Given the description of an element on the screen output the (x, y) to click on. 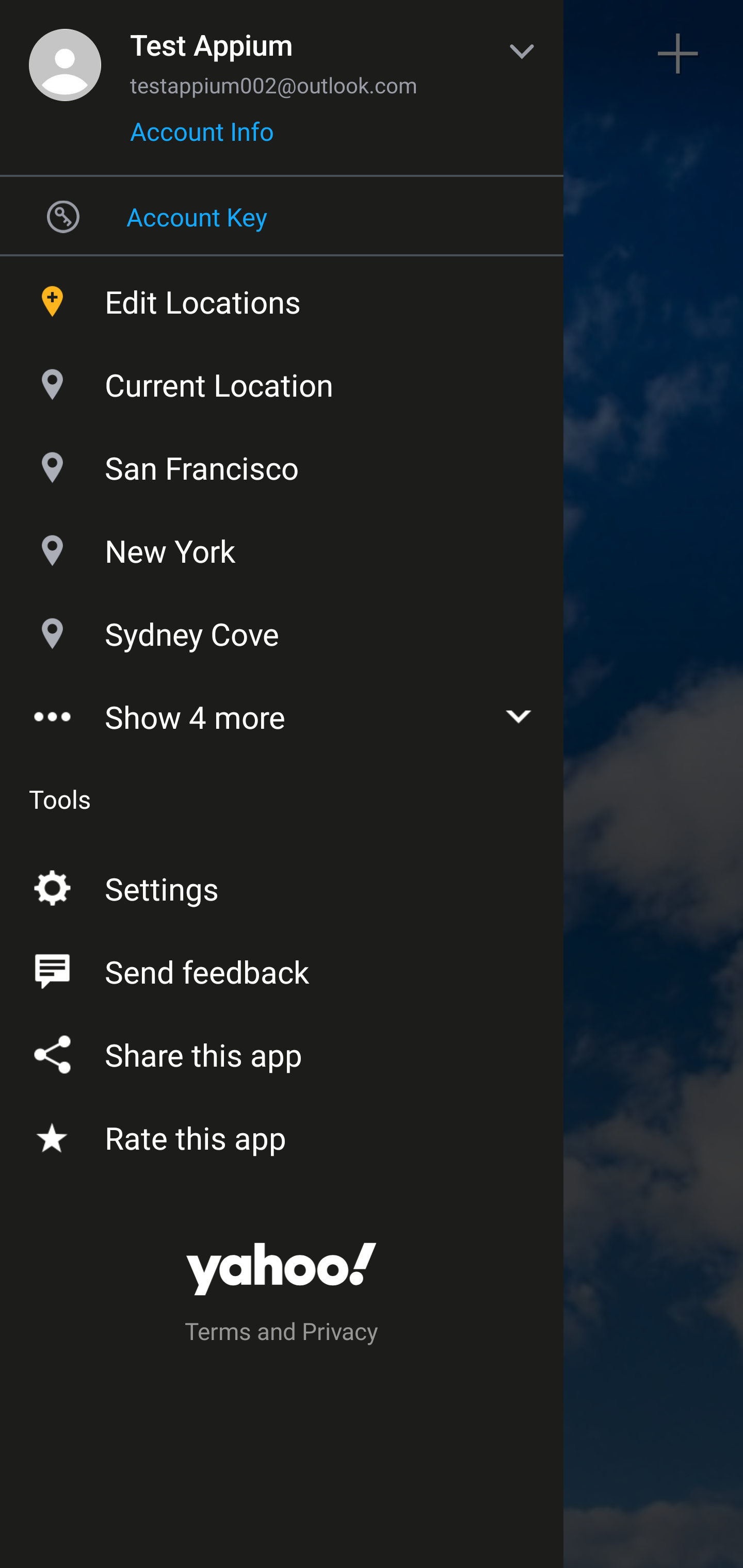
Sidebar (64, 54)
Account Info (202, 137)
Account Key (281, 216)
Edit Locations (281, 296)
Current Location (281, 379)
San Francisco (281, 462)
New York (281, 546)
Sydney Cove (281, 629)
Settings (281, 884)
Send feedback (281, 967)
Share this app (281, 1050)
Terms and Privacy Terms and privacy button (281, 1334)
